Given the description of an element on the screen output the (x, y) to click on. 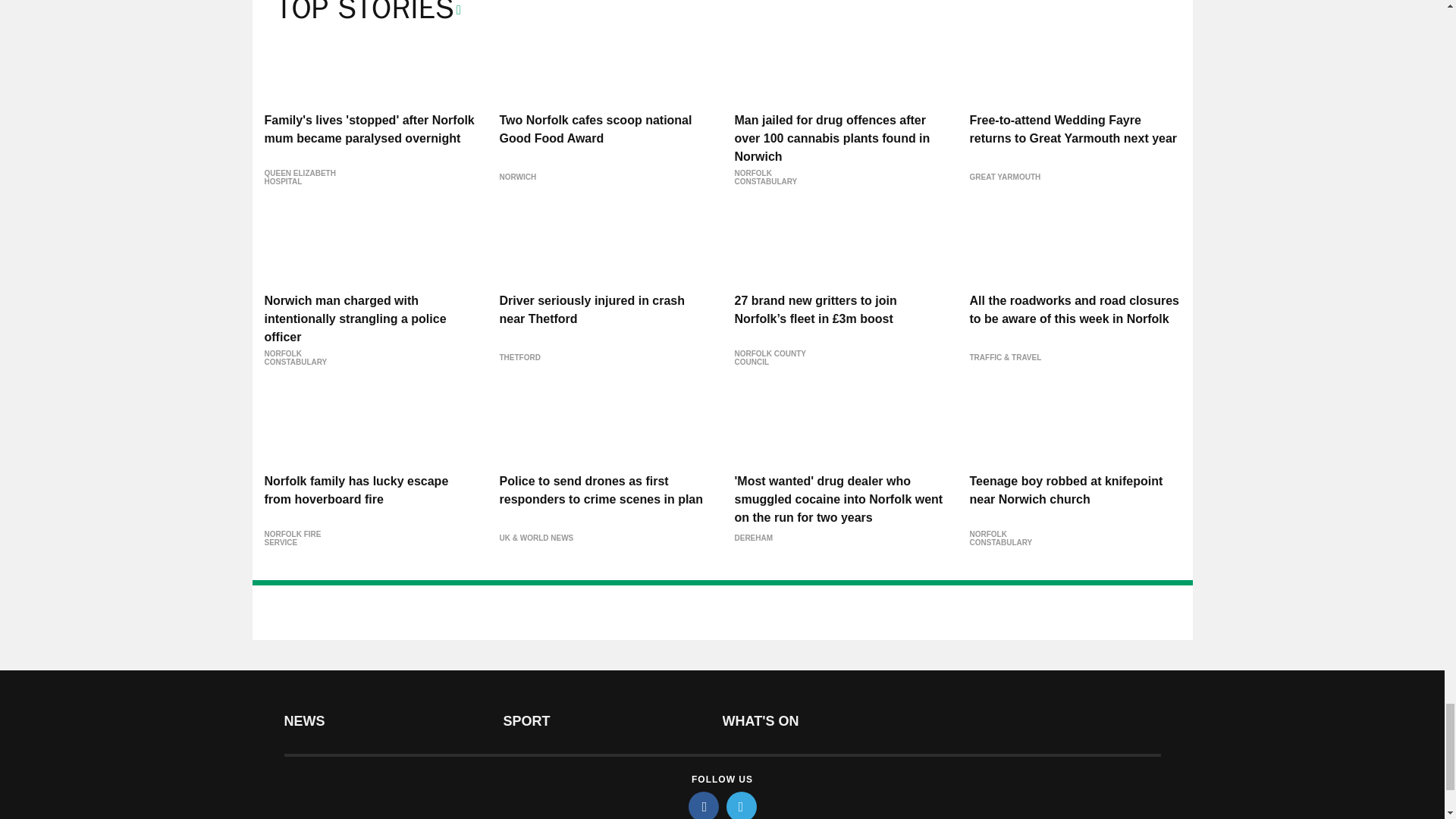
facebook (703, 805)
twitter (741, 805)
